Given the description of an element on the screen output the (x, y) to click on. 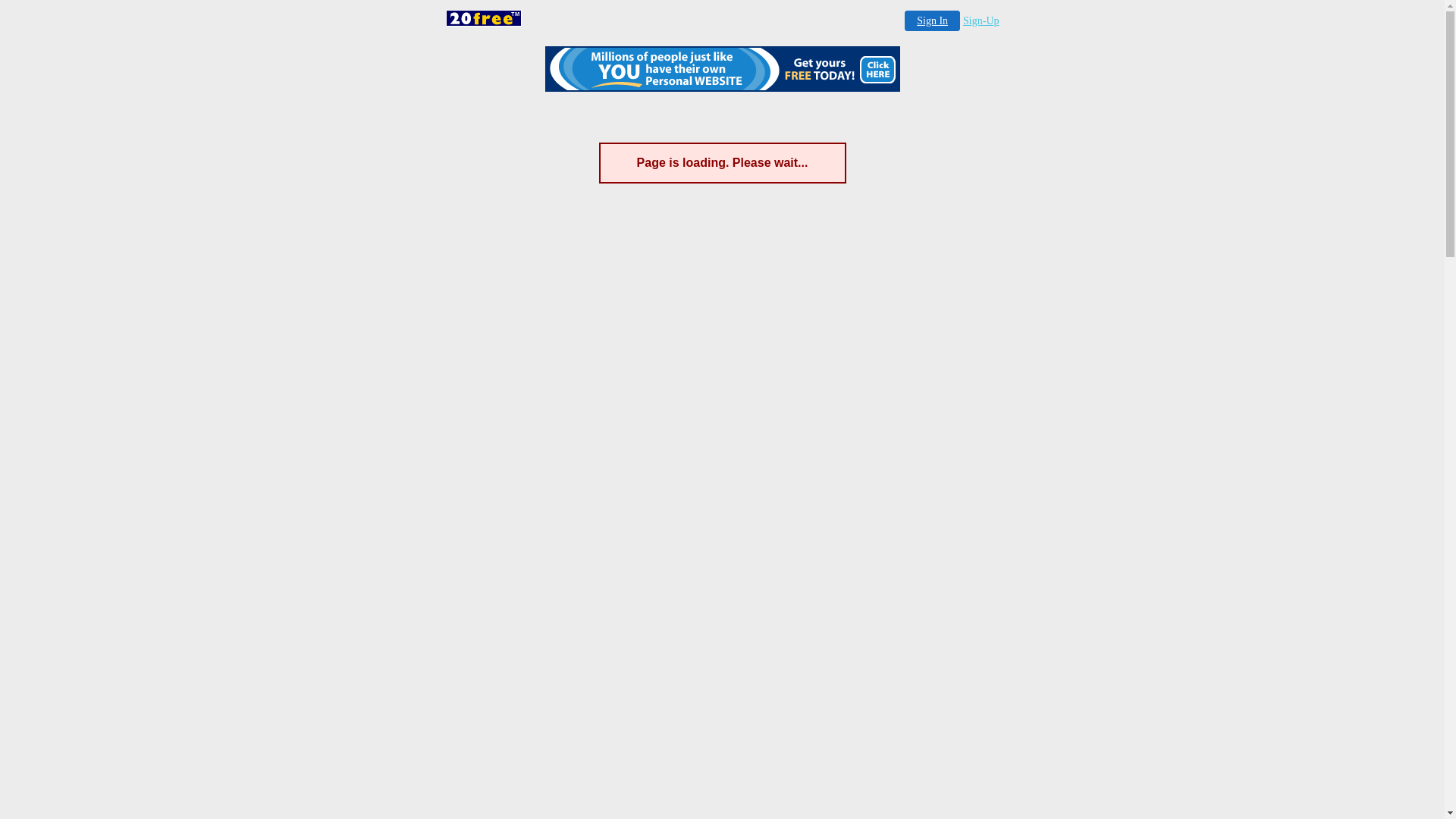
Sign In Element type: text (932, 20)
Sign-Up Element type: text (980, 20)
